Given the description of an element on the screen output the (x, y) to click on. 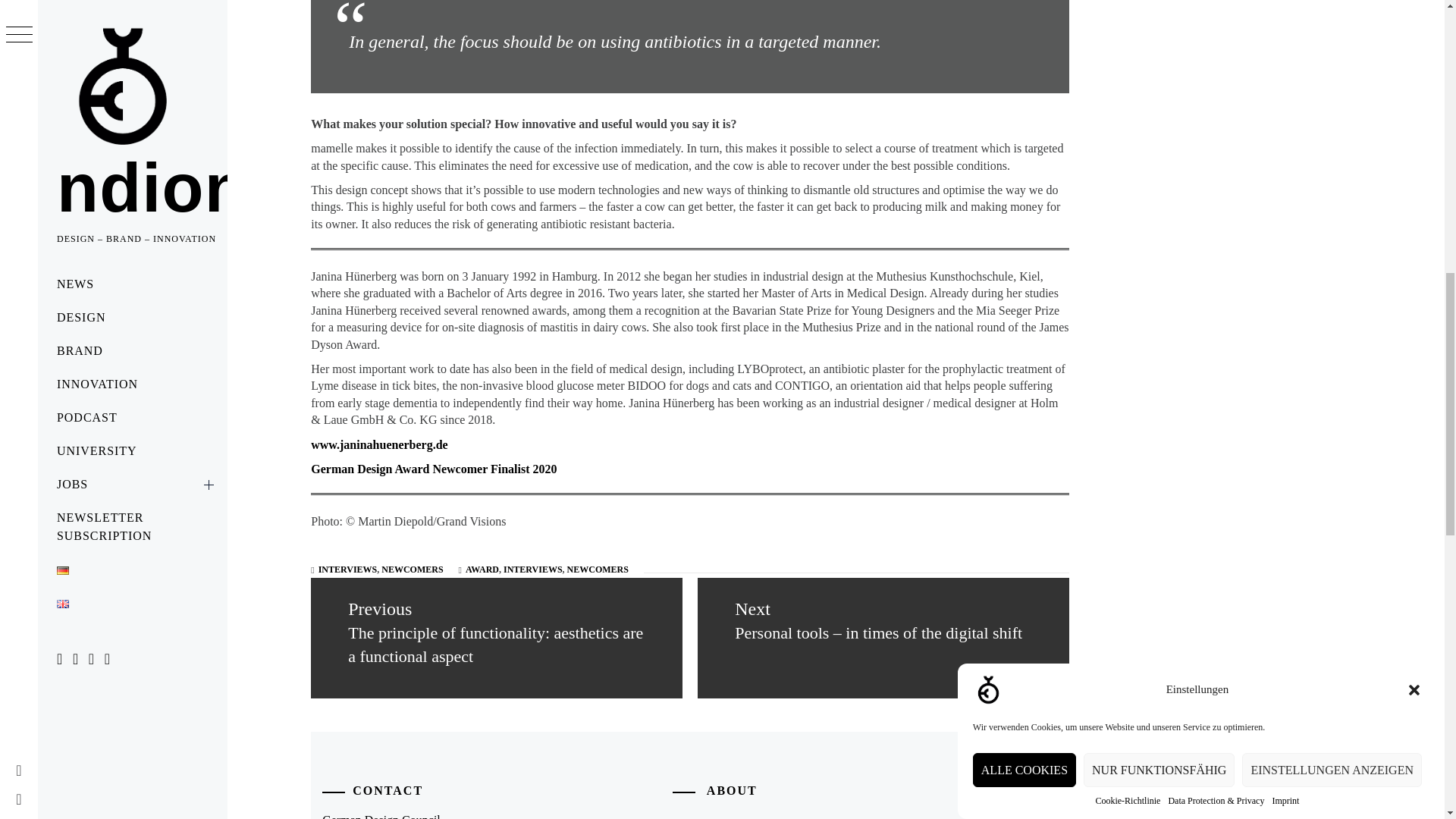
Imprint (1284, 50)
www.janinahuenerberg.de (378, 444)
ALLE COOKIES (1023, 137)
German Design Award Newcomer Finalist 2020 (433, 468)
EINSTELLUNGEN ANZEIGEN (1331, 91)
Cookie-Richtlinie (1127, 69)
